Given the description of an element on the screen output the (x, y) to click on. 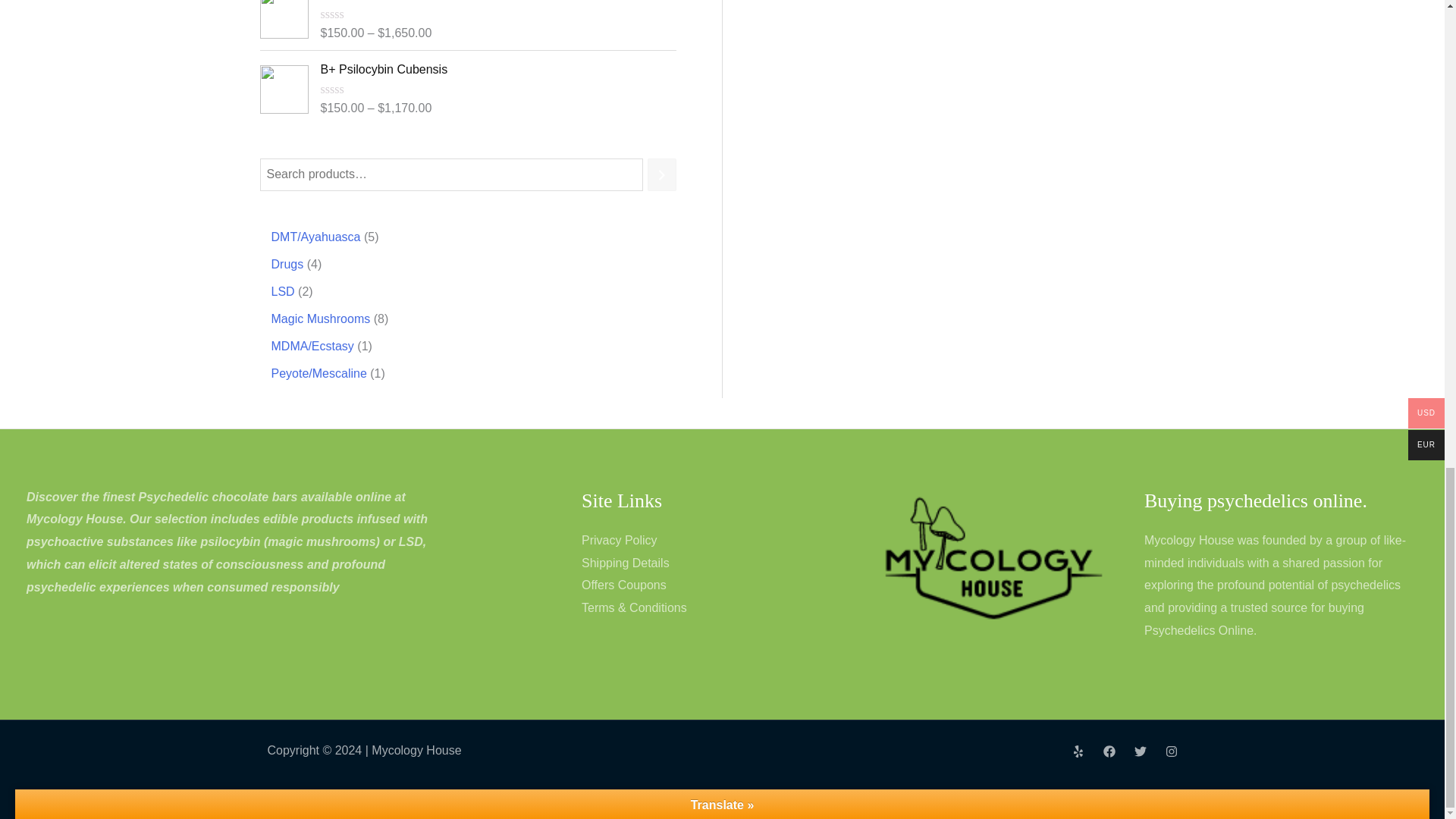
LSD (282, 291)
Drugs (287, 264)
Magic Mushrooms (320, 318)
Golden Teacher (498, 2)
